Given the description of an element on the screen output the (x, y) to click on. 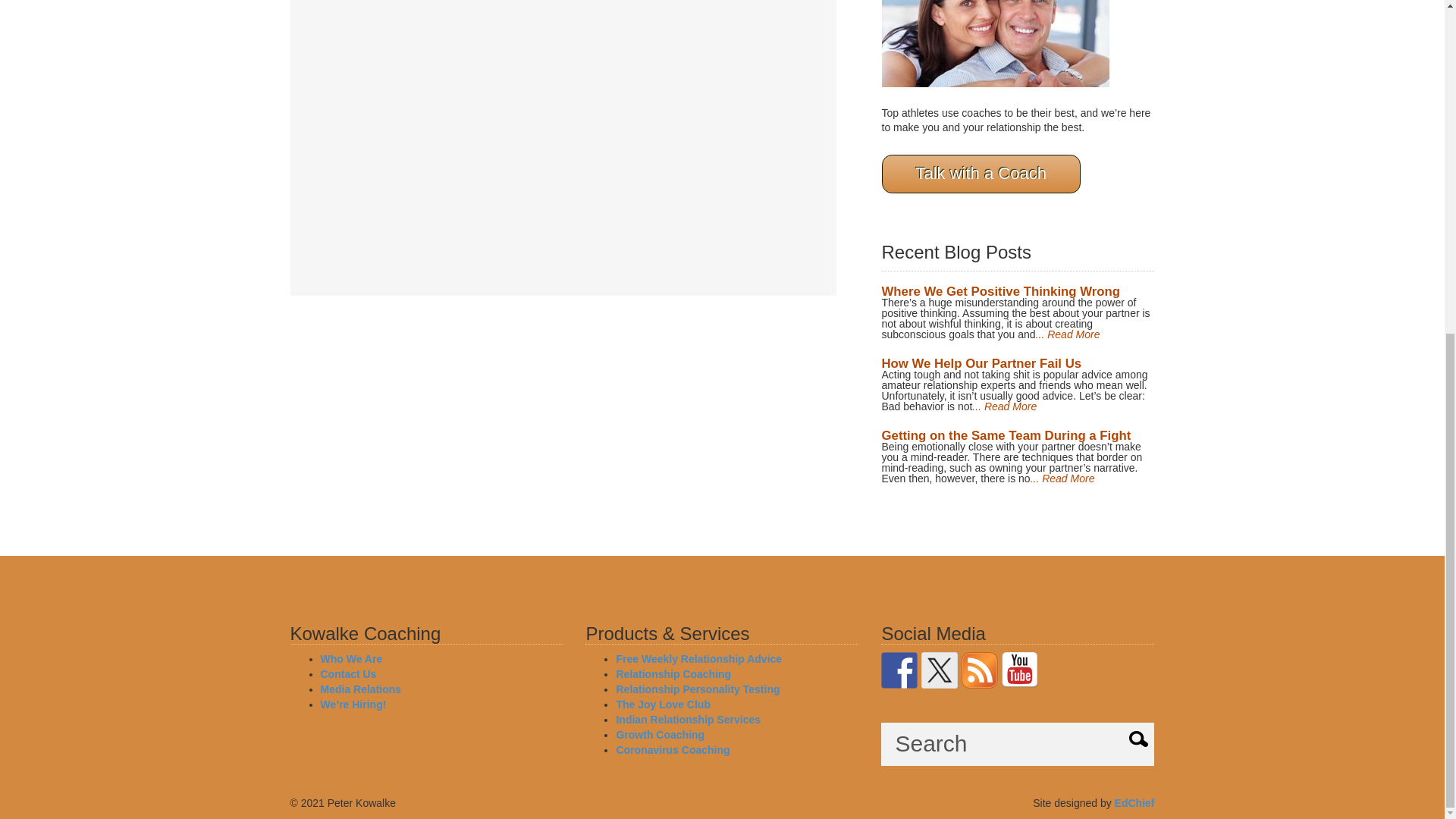
Relationship Coaching (672, 674)
Where We Get Positive Thinking Wrong (999, 291)
Search (1017, 743)
Contact Us (347, 674)
Relationship Personality Testing (696, 689)
The Joy Love Club (662, 704)
Growth Coaching (659, 734)
Indian Relationship Services (687, 719)
... Read More (1062, 478)
Where We Get Positive Thinking Wrong (999, 291)
